Given the description of an element on the screen output the (x, y) to click on. 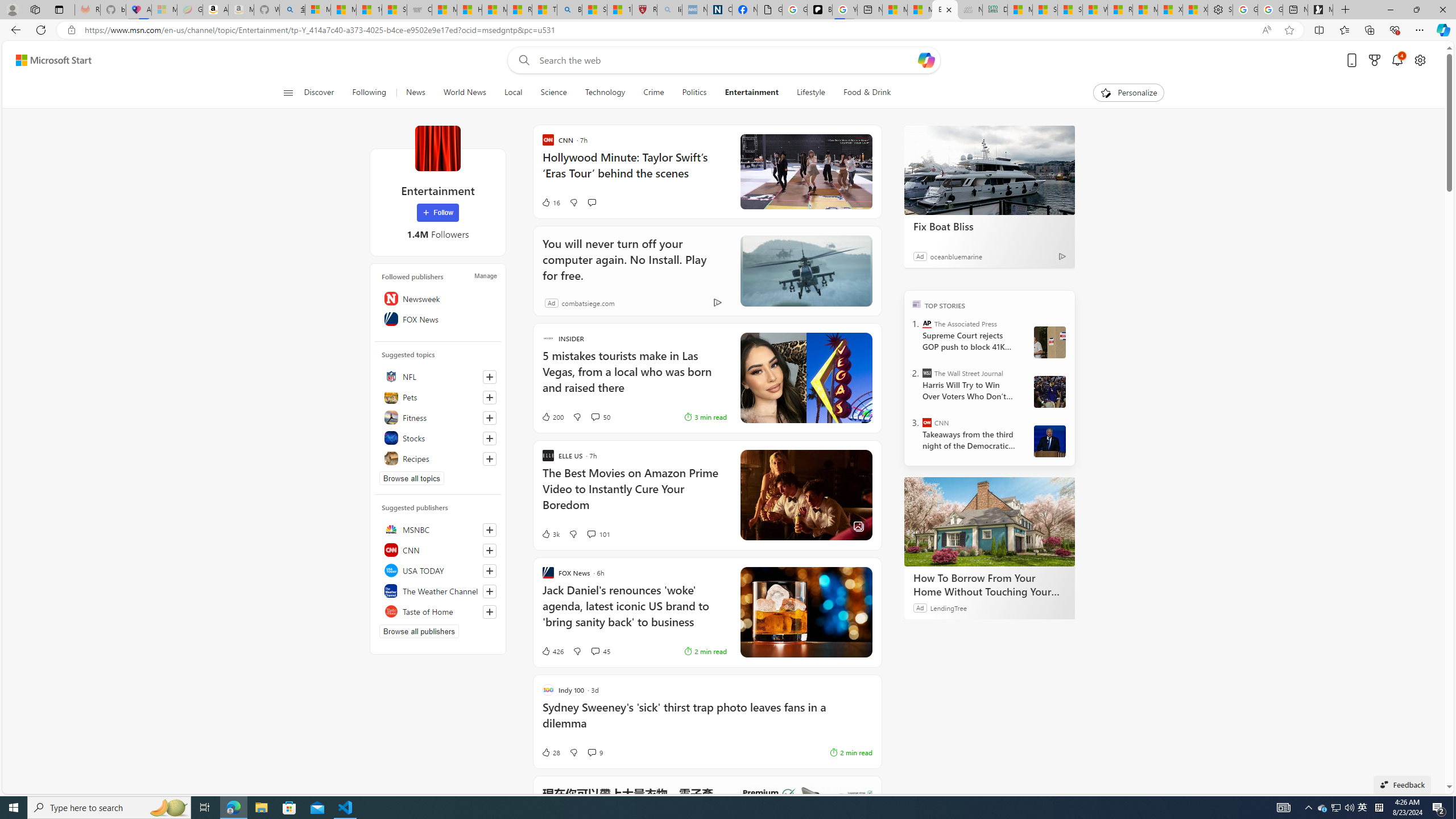
CNN (437, 549)
Recipes (437, 458)
Food & Drink (867, 92)
R******* | Trusted Community Engagement and Contributions (1119, 9)
Google Analytics Opt-out Browser Add-on Download Page (769, 9)
Politics (694, 92)
Technology (604, 92)
Crime (653, 92)
Lifestyle (810, 92)
